Given the description of an element on the screen output the (x, y) to click on. 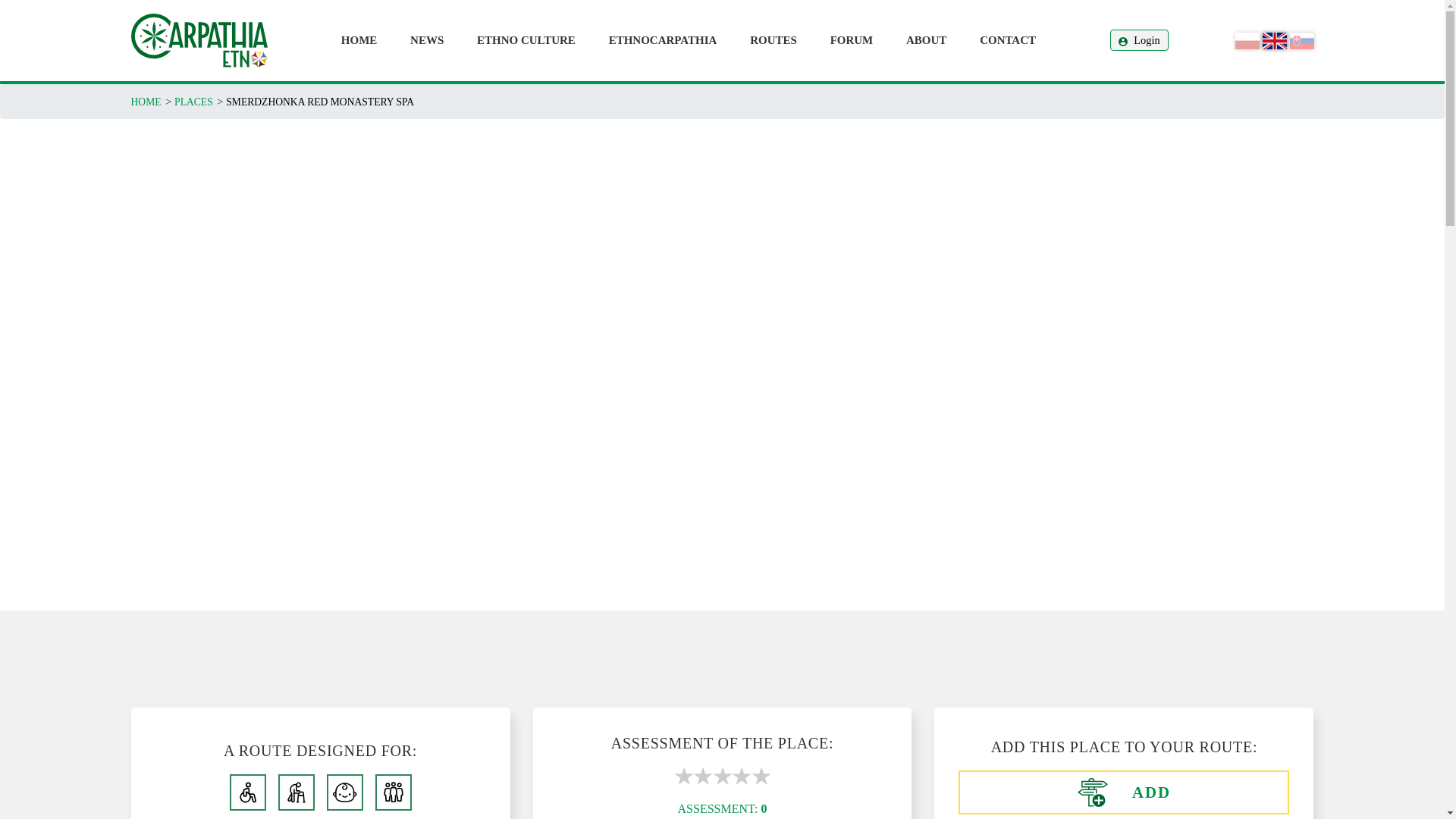
Login (1138, 39)
Add to my routes (1123, 792)
Login (1138, 39)
English (1274, 39)
ROUTES (773, 40)
FORUM (851, 40)
ETHNO CULTURE (525, 40)
Slovak (1300, 39)
HOME (359, 40)
Polski (1246, 39)
ETHNOCARPATHIA (663, 40)
ABOUT (925, 40)
CONTACT (1007, 40)
Home (198, 39)
